Given the description of an element on the screen output the (x, y) to click on. 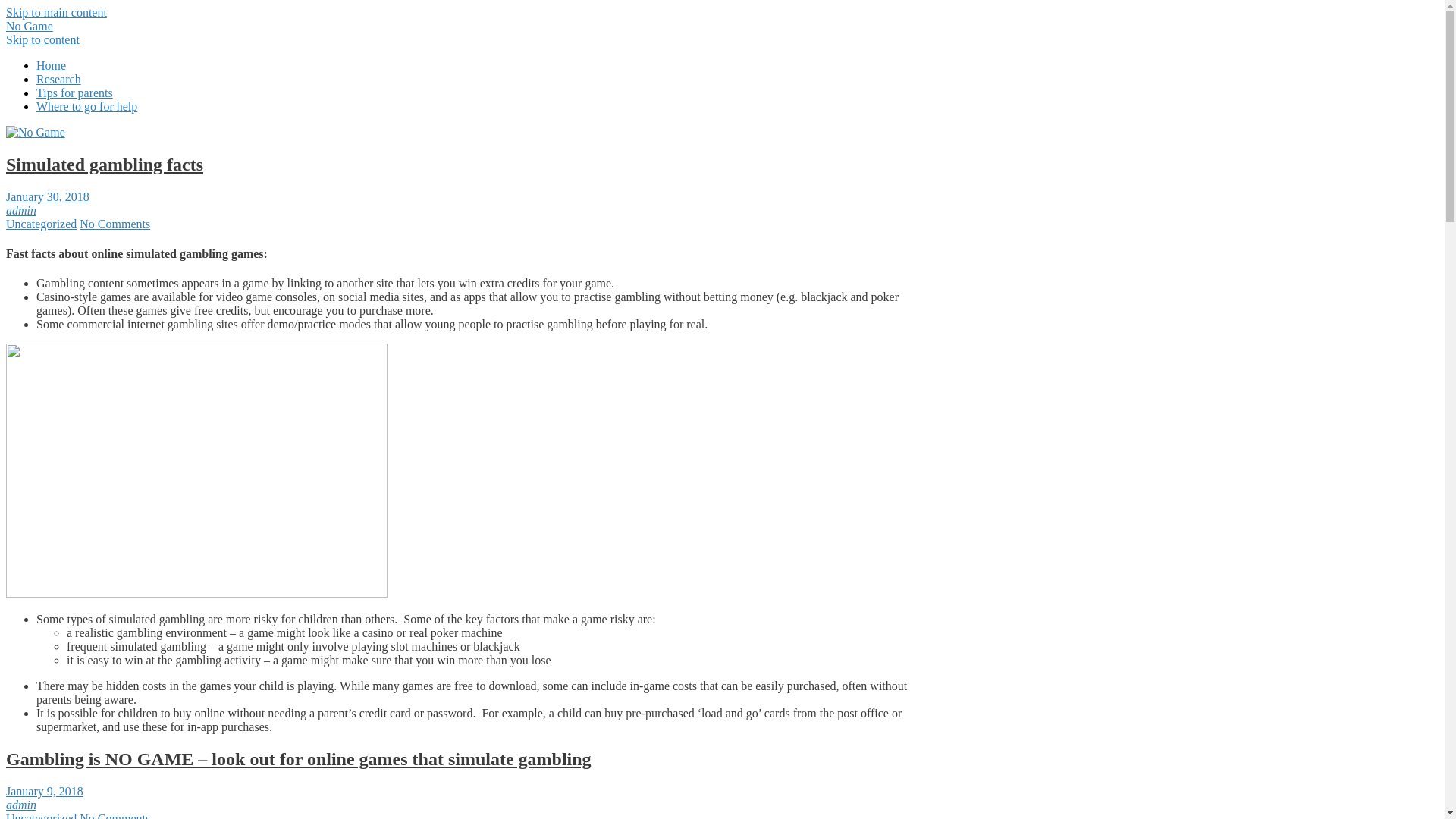
admin Element type: text (21, 804)
Where to go for help Element type: text (86, 106)
Uncategorized Element type: text (41, 223)
No Game Element type: text (29, 25)
January 9, 2018 Element type: text (44, 790)
No Comments Element type: text (114, 223)
Home Element type: text (50, 65)
Tips for parents Element type: text (74, 92)
January 30, 2018 Element type: text (47, 196)
Skip to content Element type: text (42, 39)
admin Element type: text (21, 209)
Simulated gambling facts Element type: text (104, 164)
Research Element type: text (58, 78)
Skip to main content Element type: text (56, 12)
